Given the description of an element on the screen output the (x, y) to click on. 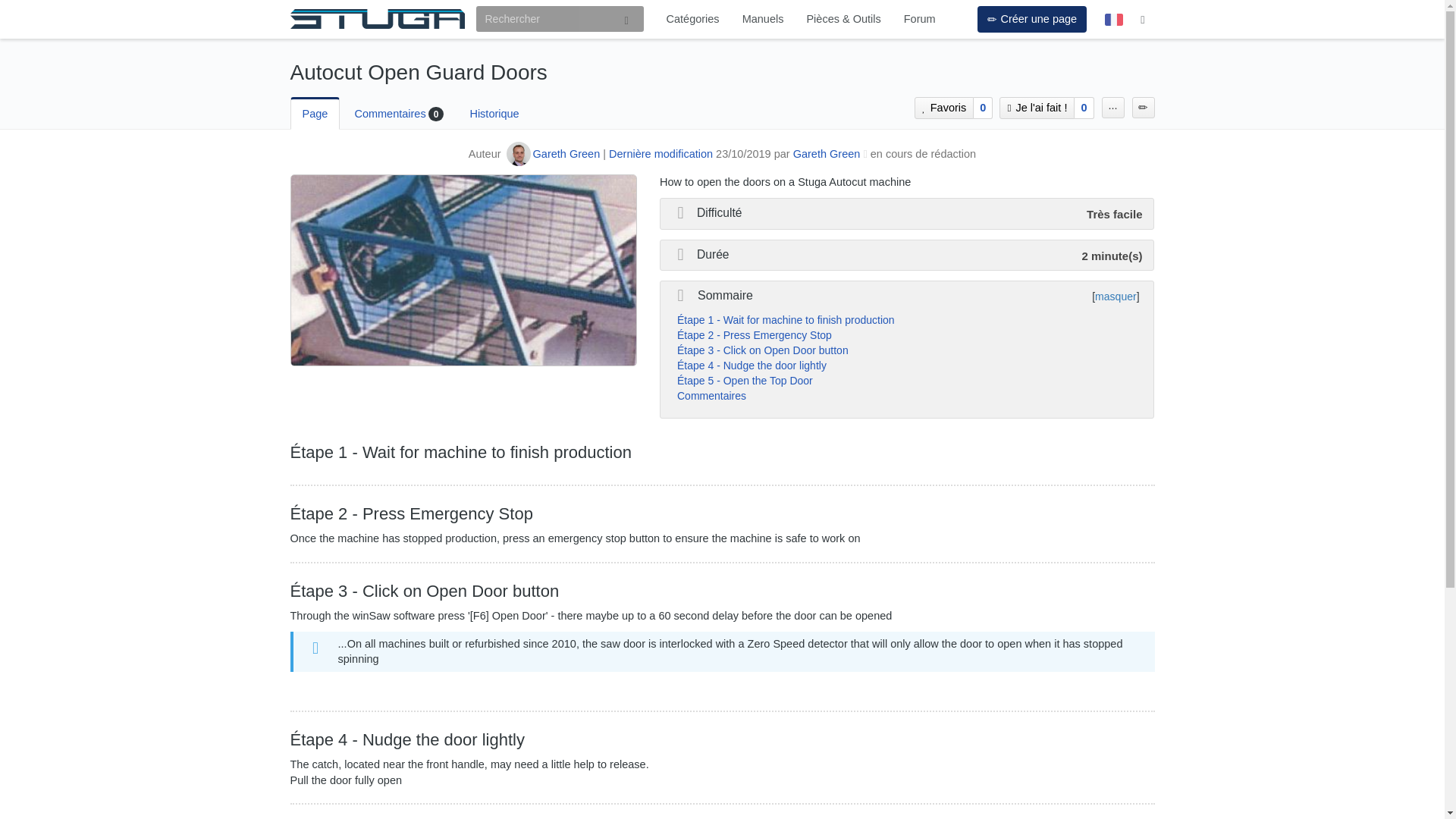
Gareth Green (565, 153)
Favoris (944, 107)
Utilisateur:Gareth Green (826, 153)
Page (314, 113)
Favoris (942, 107)
masquer (1115, 296)
Je l'ai fait ! (1034, 107)
0 (983, 107)
Historique (493, 113)
Outils pour les pages (1113, 107)
... (1113, 107)
Gareth Green (826, 153)
Manuels (762, 18)
Rechercher (626, 18)
Je l'ai fait ! (1036, 107)
